Given the description of an element on the screen output the (x, y) to click on. 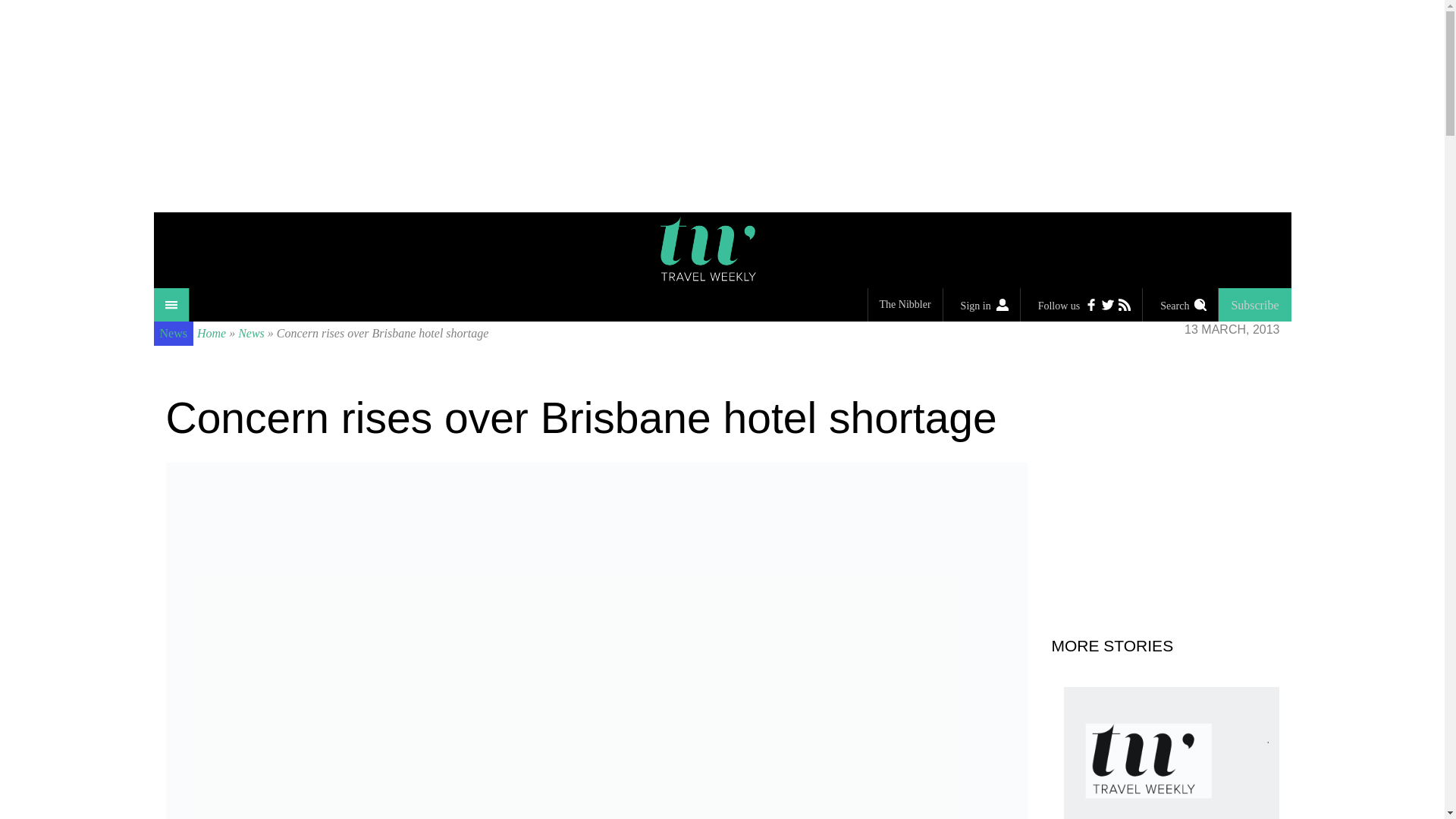
News (172, 333)
Search (1179, 304)
Sign in (981, 304)
Follow us (1081, 304)
Subscribe (1254, 304)
The Nibbler (904, 304)
News (251, 332)
Home (210, 332)
